Given the description of an element on the screen output the (x, y) to click on. 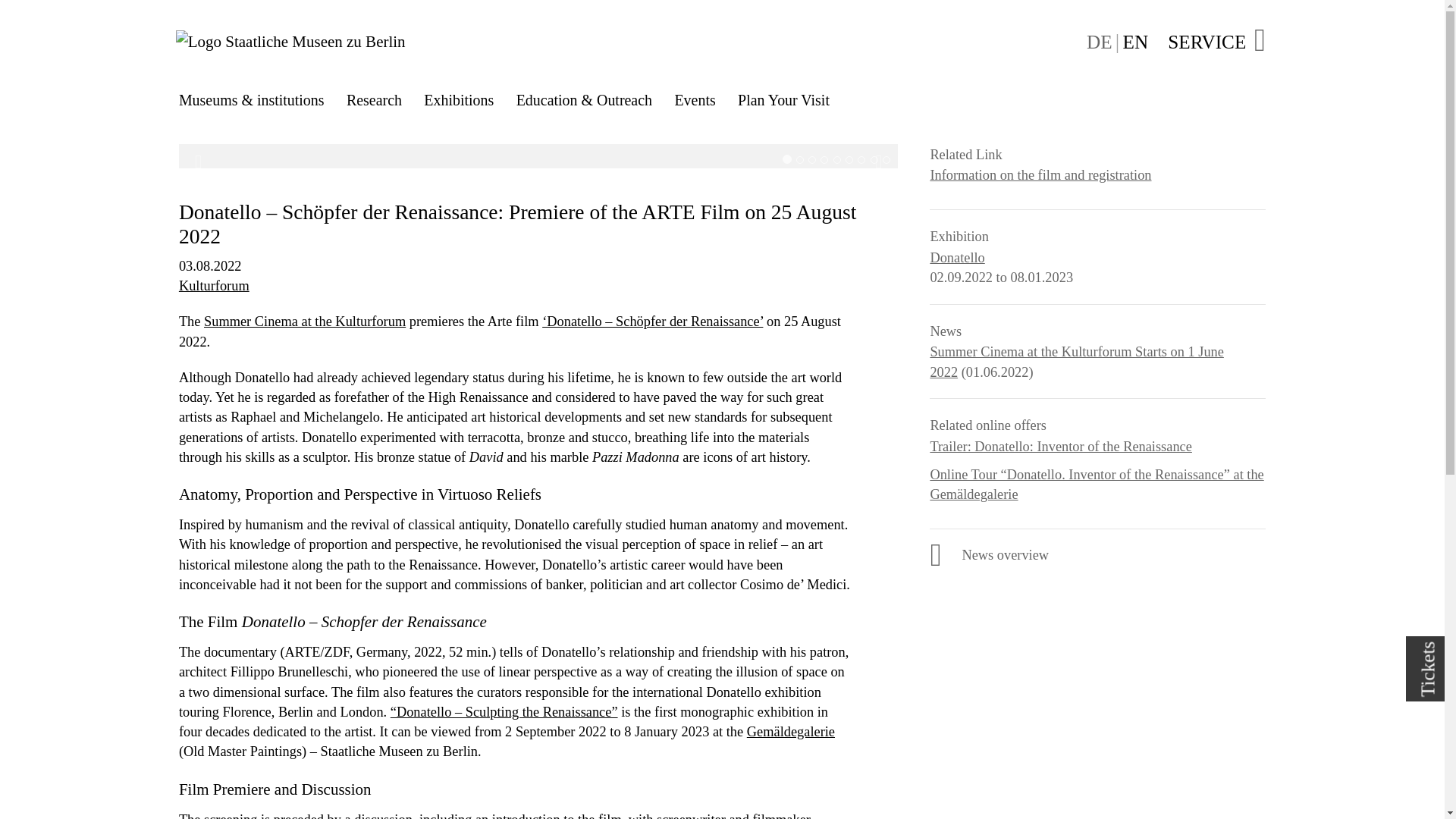
Link to the exhibition: Donatello (957, 257)
Information on the film and registration (1040, 175)
to the Summer Cinema at the Kulturforum (304, 321)
